Given the description of an element on the screen output the (x, y) to click on. 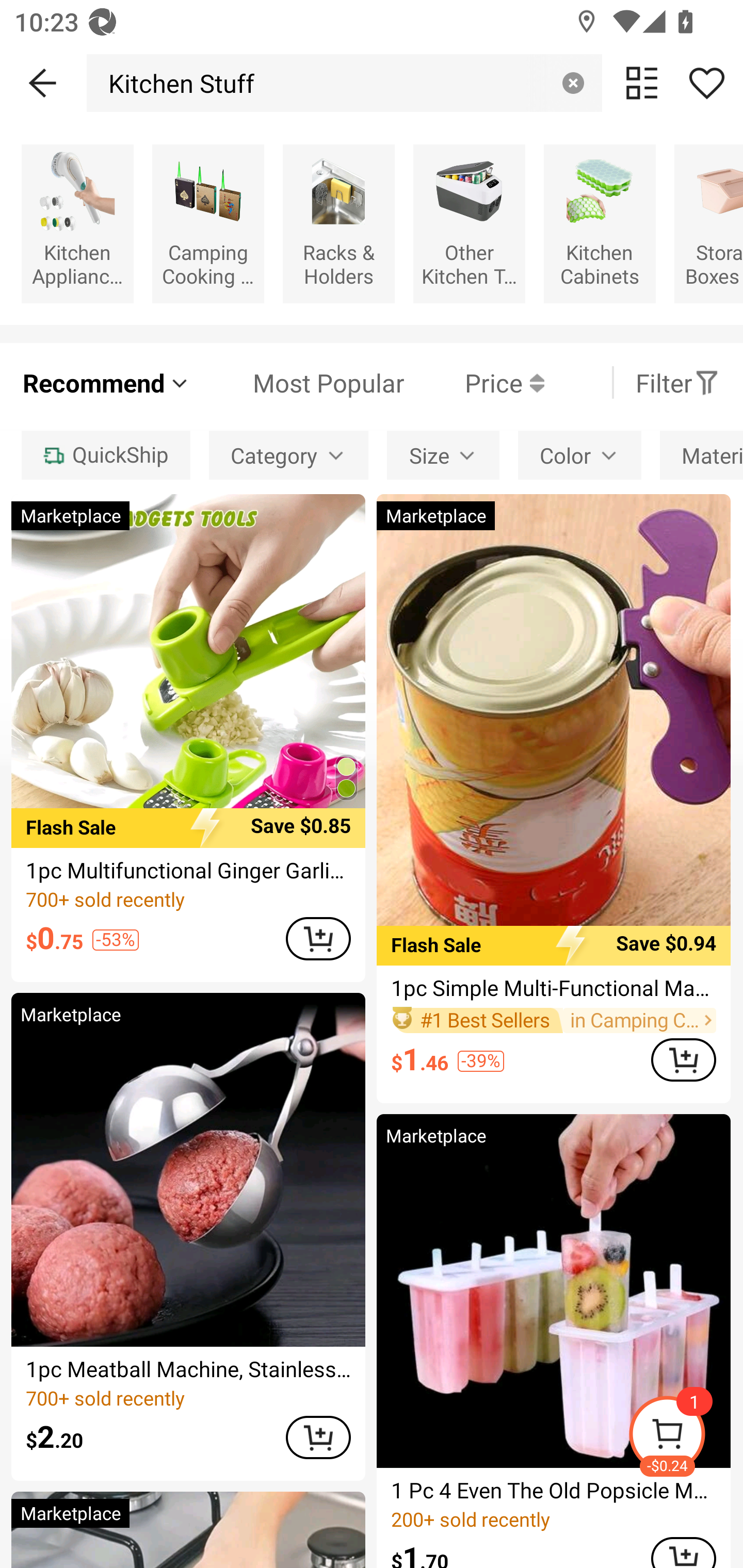
Kitchen Stuff (175, 82)
Clear (572, 82)
change view (641, 82)
Share (706, 82)
Kitchen Appliance Parts (77, 223)
Camping Cooking Utensils (208, 223)
Racks & Holders (338, 223)
Other Kitchen Tools (469, 223)
Kitchen Cabinets (599, 223)
Recommend (106, 382)
Most Popular (297, 382)
Price (474, 382)
Filter (677, 382)
QuickShip (105, 455)
Category (288, 455)
Size (443, 455)
Color (579, 455)
Material (701, 455)
ADD TO CART (318, 938)
#1 Best Sellers in Camping Cooking Utensils (553, 1019)
ADD TO CART (683, 1059)
-$0.24 (685, 1436)
ADD TO CART (318, 1437)
ADD TO CART (683, 1552)
